Given the description of an element on the screen output the (x, y) to click on. 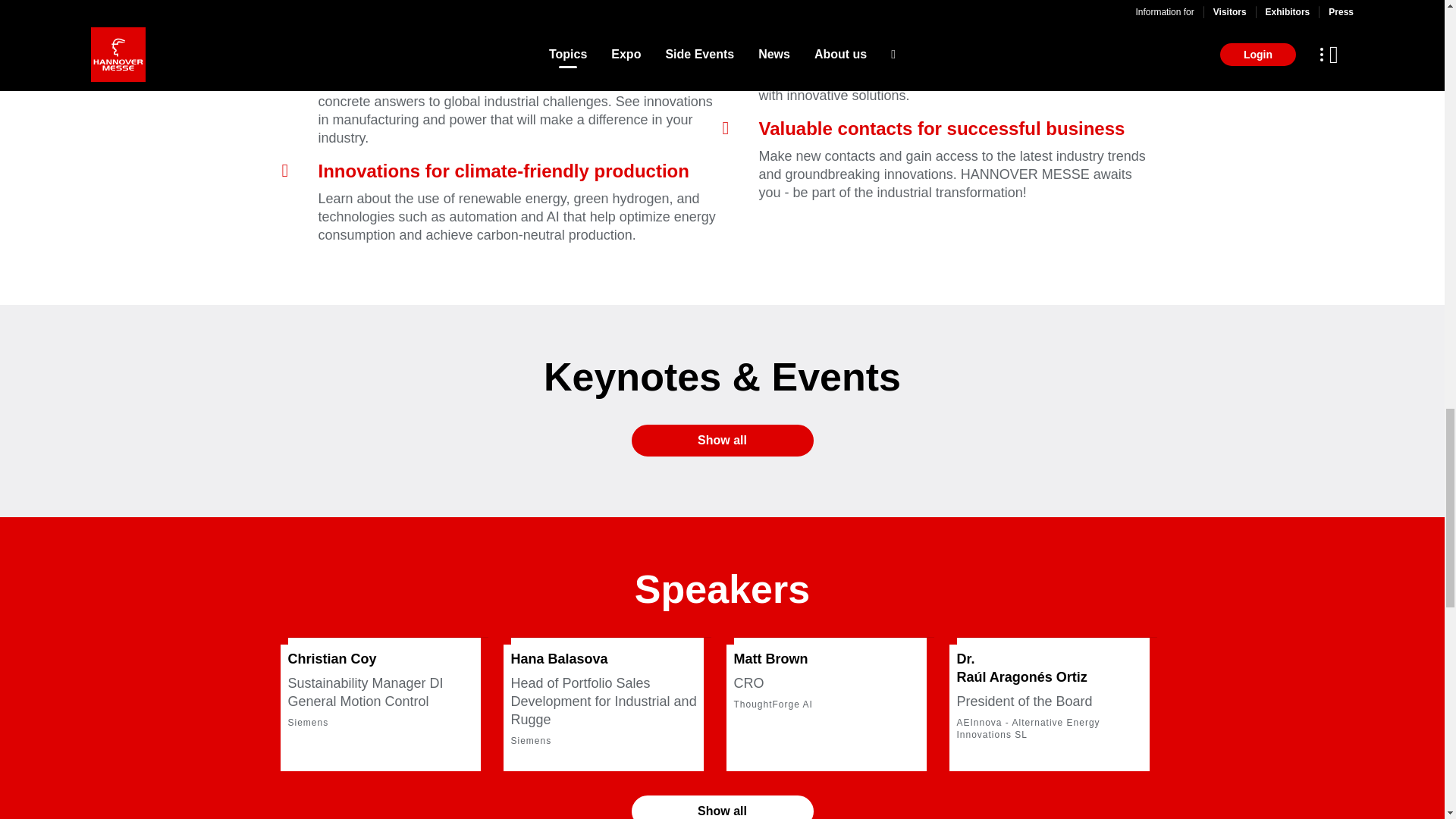
Show all (721, 440)
Show all (721, 807)
